Given the description of an element on the screen output the (x, y) to click on. 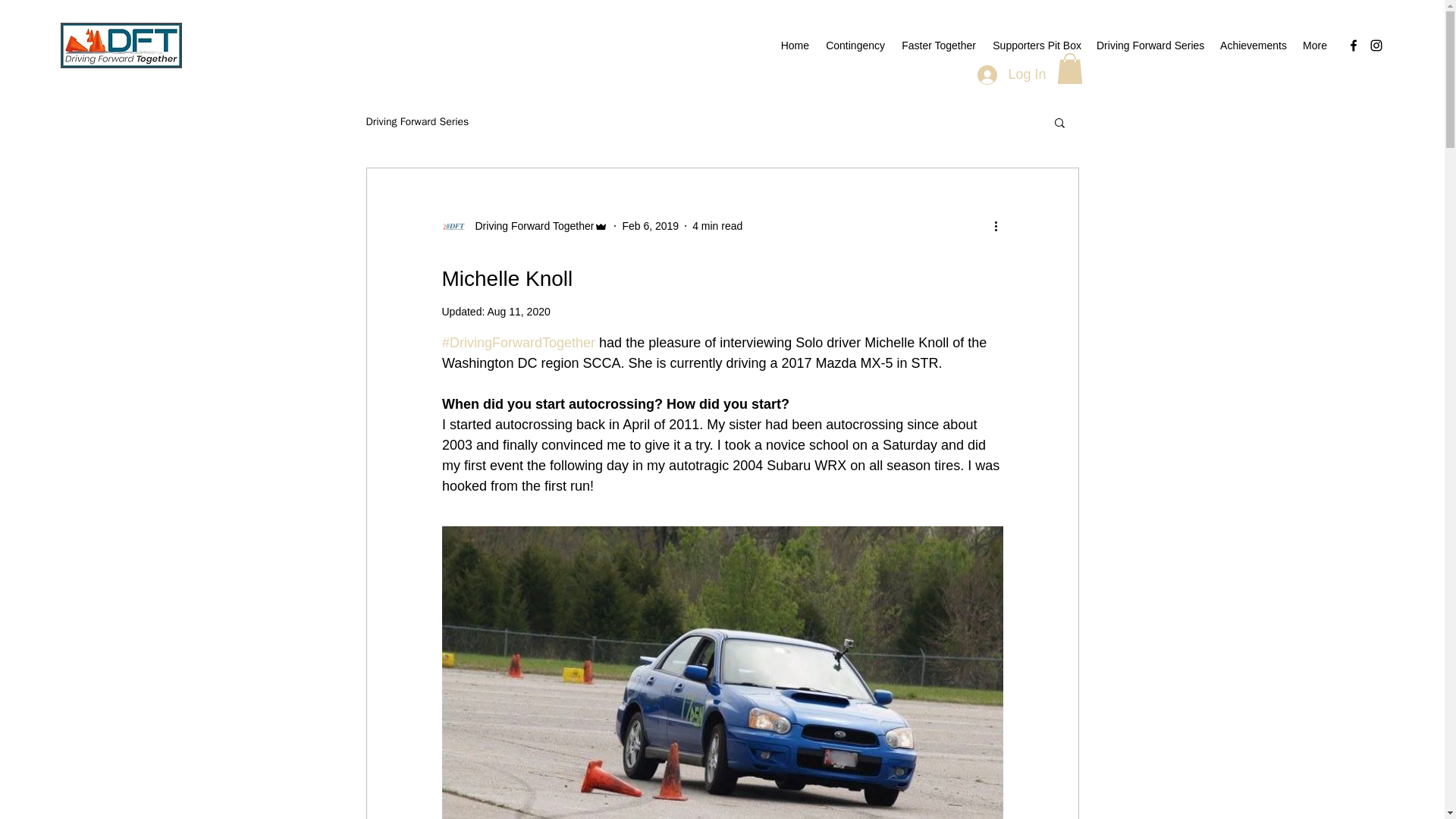
Driving Forward Together (529, 226)
Driving Forward Series (416, 121)
Driving Forward Together (524, 225)
Supporters Pit Box (1036, 45)
Log In (1011, 74)
Achievements (1252, 45)
Aug 11, 2020 (518, 311)
Faster Together (938, 45)
Feb 6, 2019 (649, 225)
Home (794, 45)
Driving Forward Series (1150, 45)
Contingency (854, 45)
4 min read (717, 225)
